Given the description of an element on the screen output the (x, y) to click on. 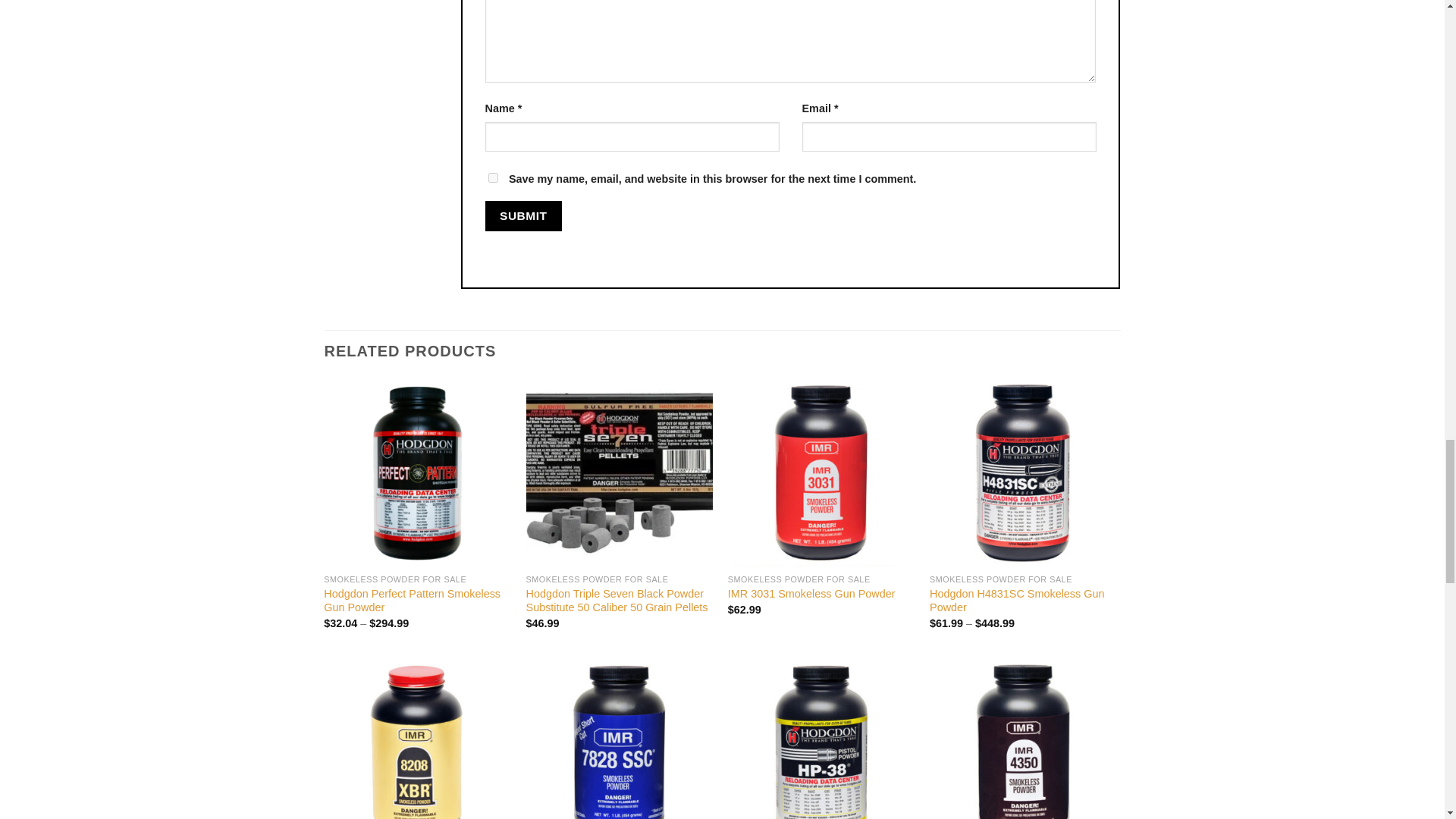
Submit (523, 215)
yes (492, 177)
